Given the description of an element on the screen output the (x, y) to click on. 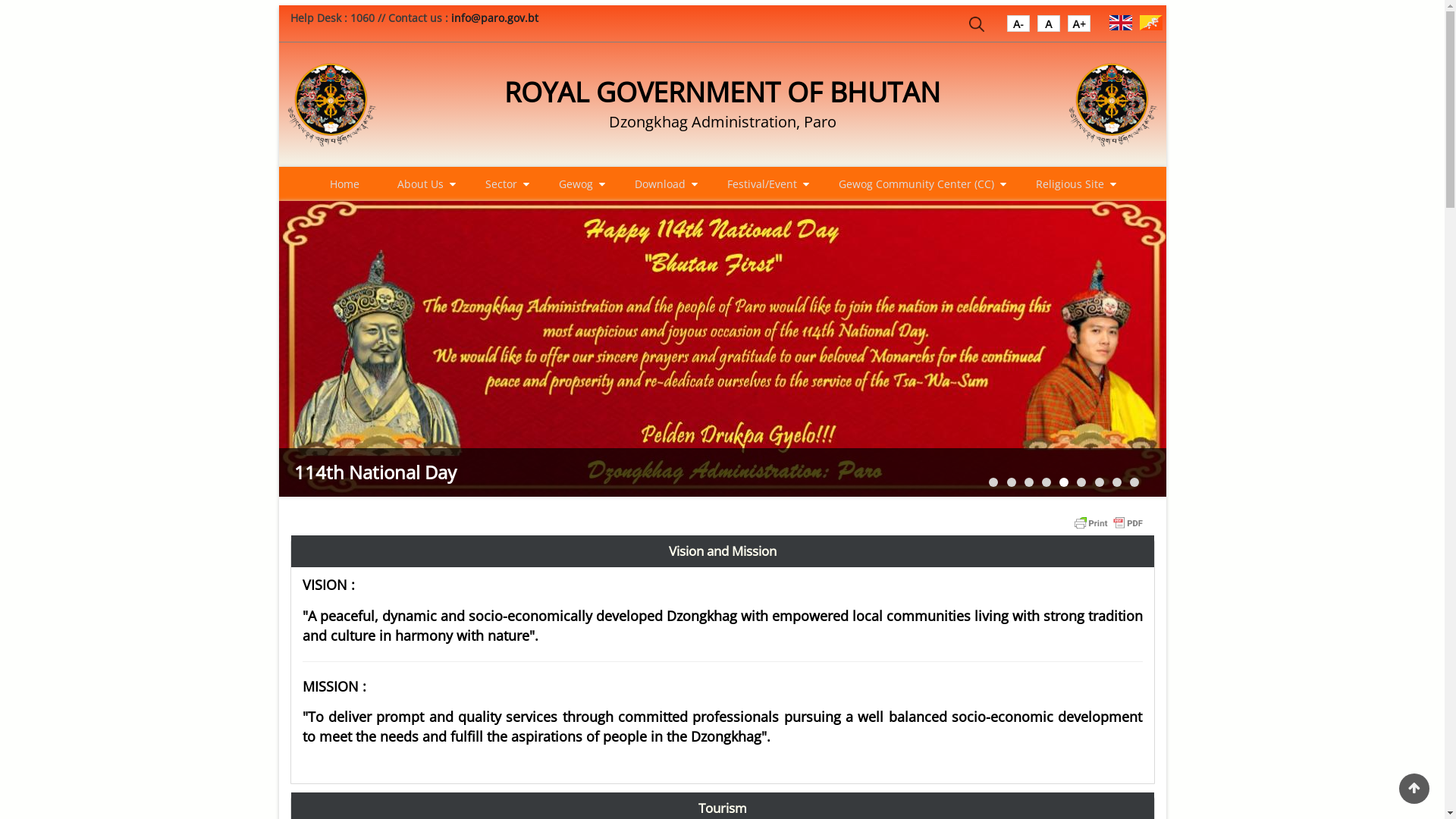
Download Element type: text (660, 183)
Festival/Event Element type: text (763, 183)
A Element type: text (1078, 26)
Home Element type: hover (1112, 104)
A Element type: text (1018, 26)
114th National Day Element type: text (454, 471)
Search Element type: text (976, 26)
Skip to main content Element type: text (0, 0)
Gewog Community Center (CC) Element type: text (918, 183)
Home Element type: hover (331, 104)
Gewog Element type: text (576, 183)
info@paro.gov.bt Element type: text (493, 17)
Back to Top Element type: hover (1414, 788)
ROYAL GOVERNMENT OF BHUTAN Element type: text (722, 91)
Sector Element type: text (503, 183)
Home Element type: text (343, 183)
Printer Friendly, PDF & Email Element type: hover (1107, 521)
About Us Element type: text (422, 183)
A Element type: text (1048, 26)
Religious Site Element type: text (1071, 183)
